Given the description of an element on the screen output the (x, y) to click on. 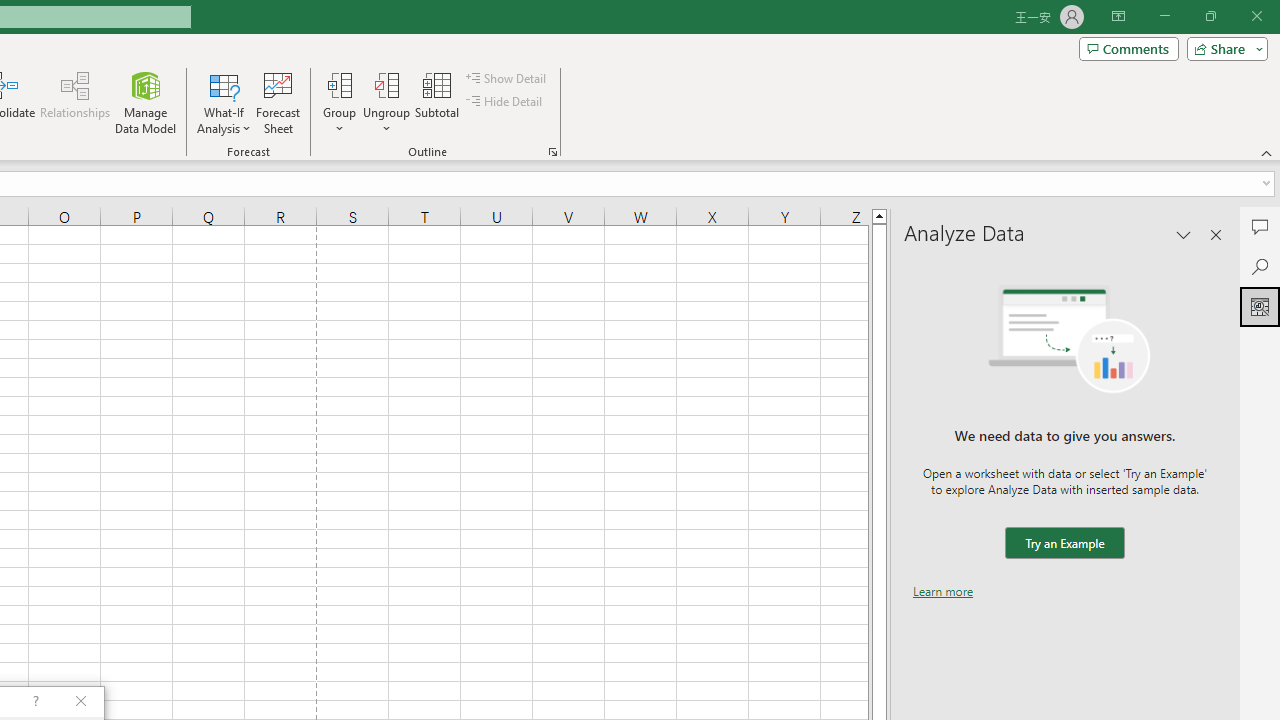
Restore Down (1210, 16)
Line up (879, 215)
Search (1260, 266)
Ungroup... (386, 84)
Subtotal (437, 102)
More Options (386, 121)
Hide Detail (505, 101)
Show Detail (507, 78)
Task Pane Options (1183, 234)
Ribbon Display Options (1118, 16)
Group and Outline Settings (552, 151)
Minimize (1164, 16)
Close (1256, 16)
